Given the description of an element on the screen output the (x, y) to click on. 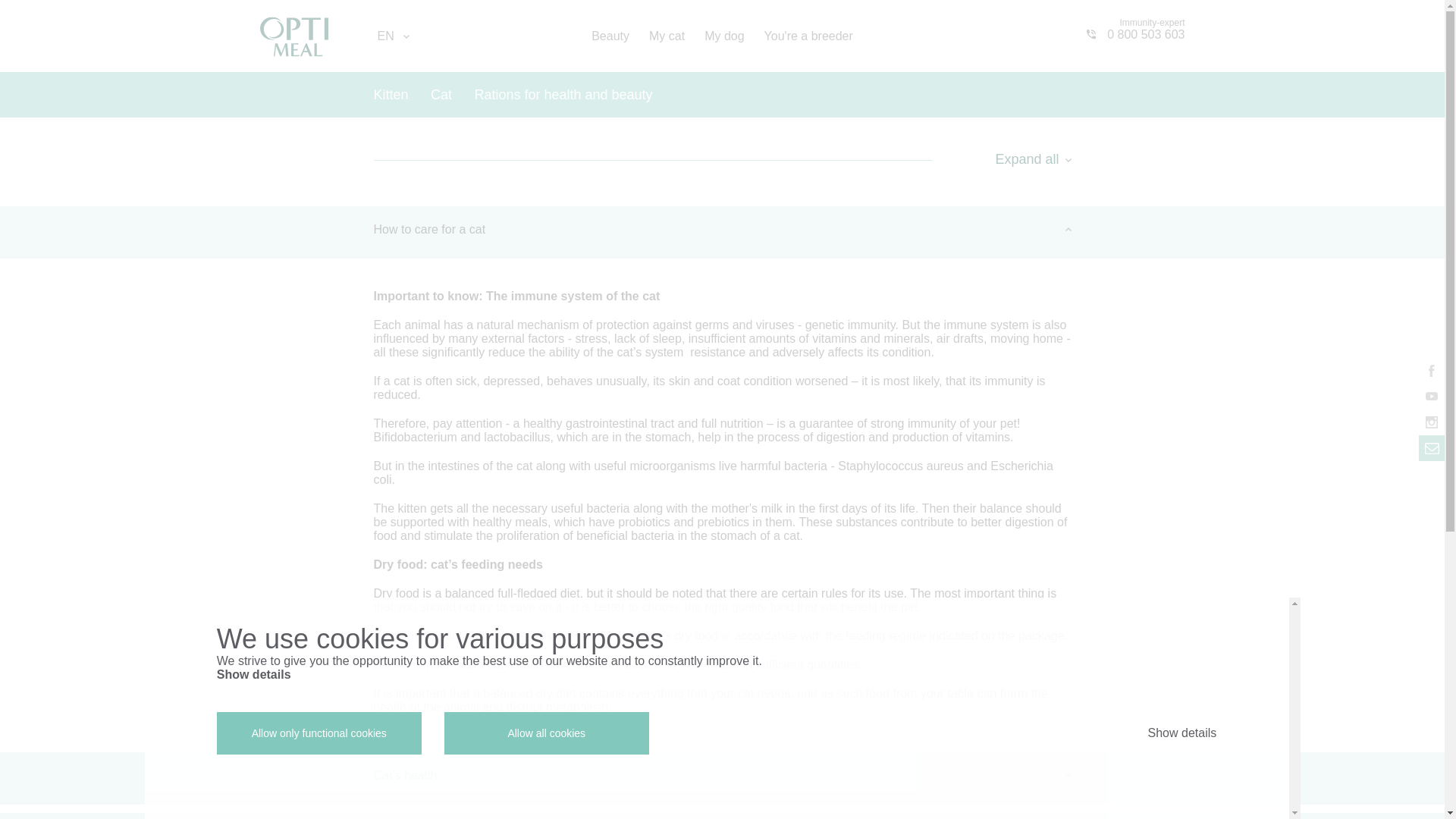
My cat (666, 36)
Rations for health and beauty (563, 94)
My dog (1135, 22)
Cat (724, 36)
You're a breeder (440, 94)
Beauty (808, 36)
Expand all (609, 36)
Kitten (1032, 158)
